Given the description of an element on the screen output the (x, y) to click on. 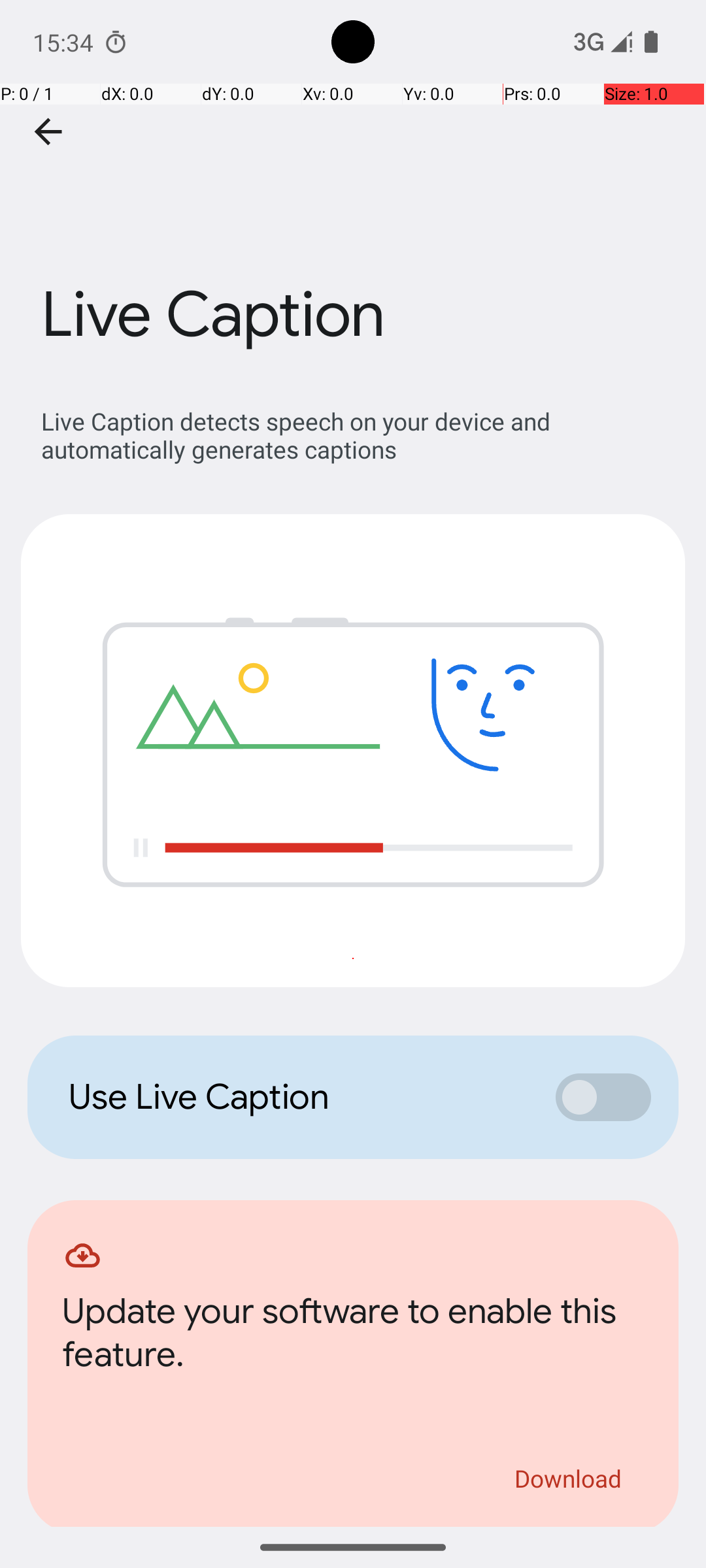
Live Caption detects speech on your device and automatically generates captions Element type: android.widget.TextView (359, 434)
Use Live Caption Element type: android.widget.TextView (298, 1096)
Update your software to enable this feature. Element type: android.widget.TextView (352, 1336)
